Given the description of an element on the screen output the (x, y) to click on. 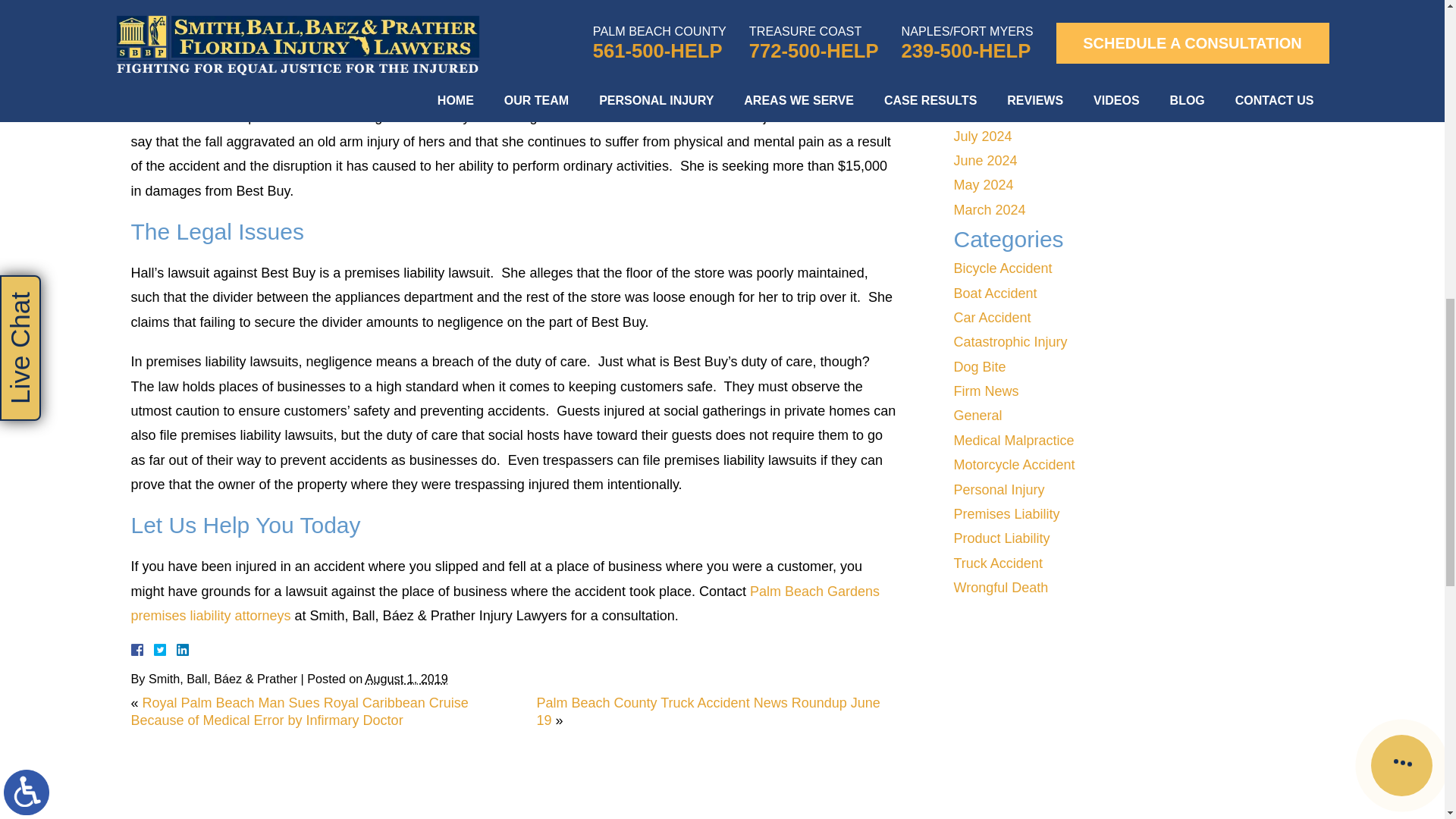
Facebook (155, 649)
LinkedIn (175, 649)
2019-08-01T00:00:00-0700 (406, 678)
Twitter (165, 649)
